Given the description of an element on the screen output the (x, y) to click on. 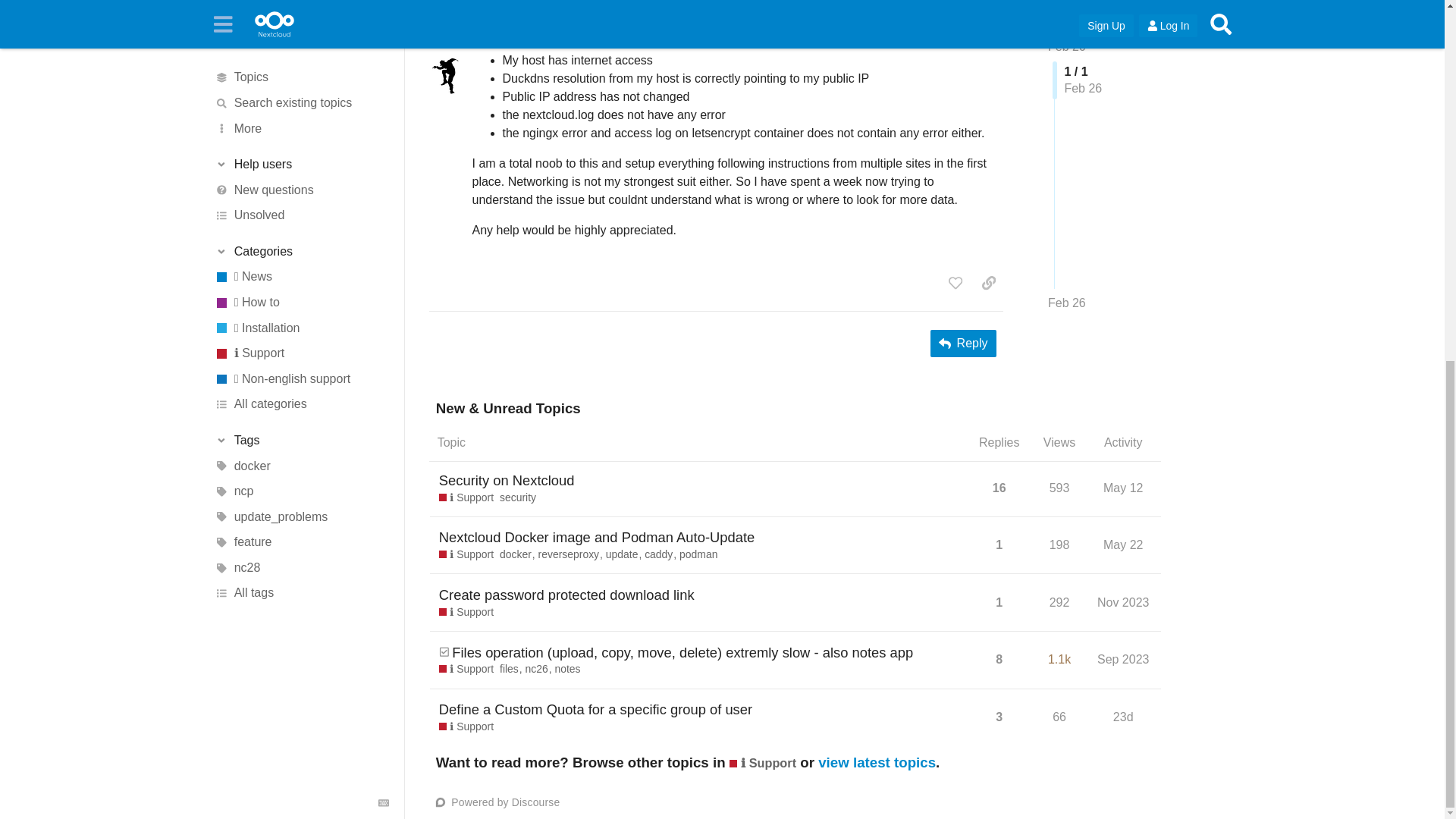
Keyboard Shortcuts (384, 161)
